Given the description of an element on the screen output the (x, y) to click on. 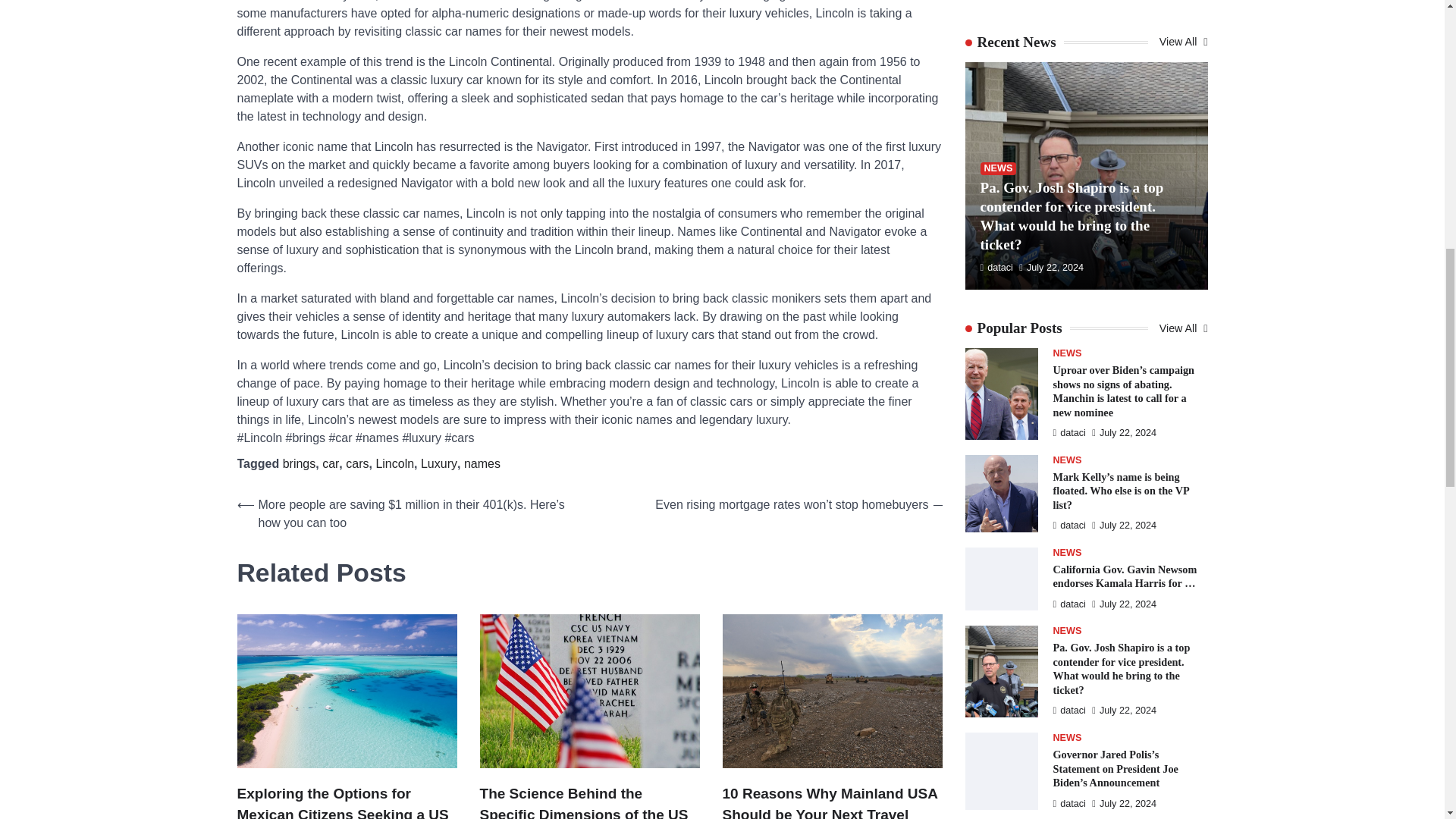
brings (298, 463)
names (482, 463)
Lincoln (394, 463)
Luxury (438, 463)
cars (357, 463)
car (330, 463)
